Given the description of an element on the screen output the (x, y) to click on. 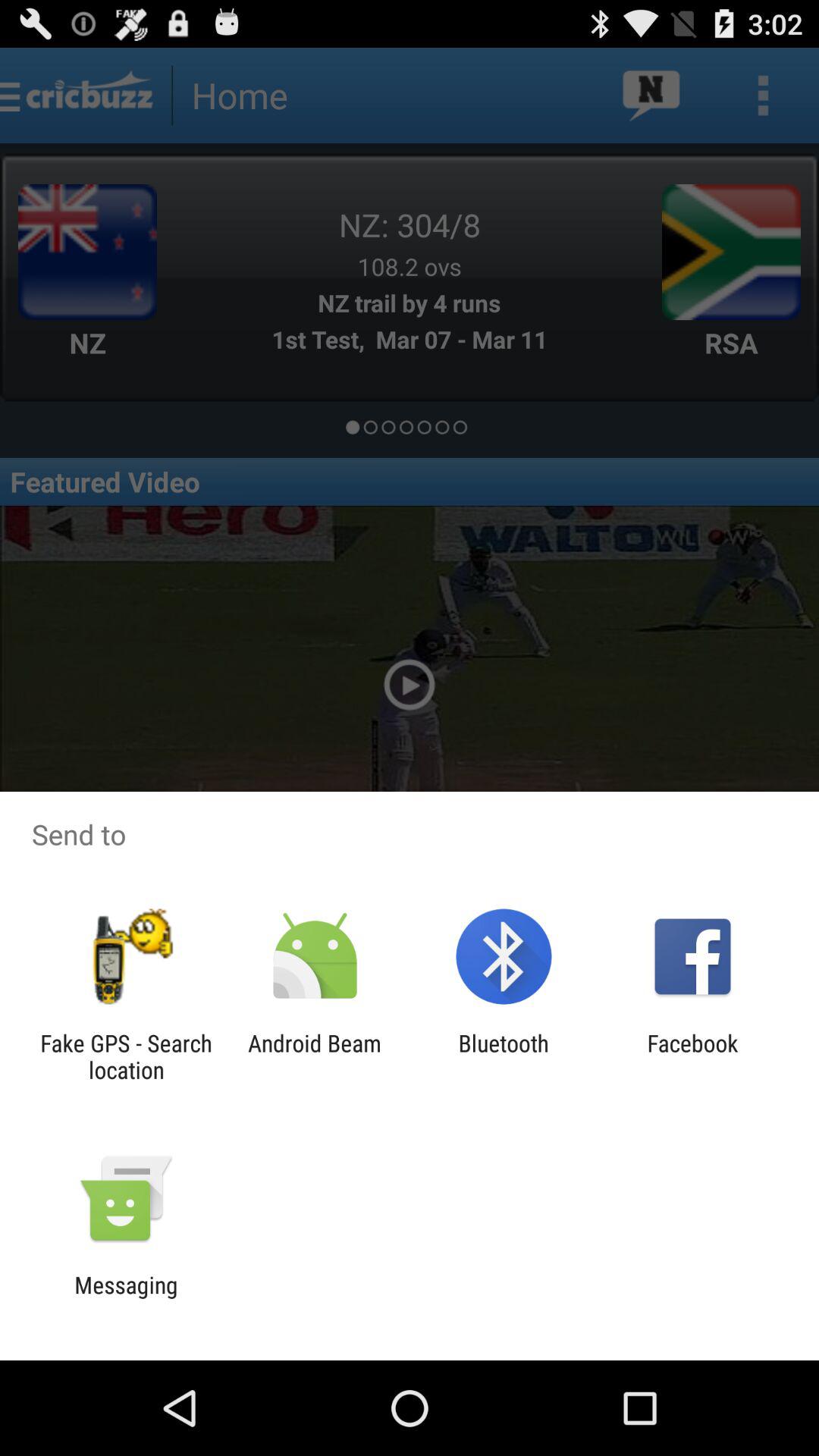
press the icon to the left of the facebook (503, 1056)
